Given the description of an element on the screen output the (x, y) to click on. 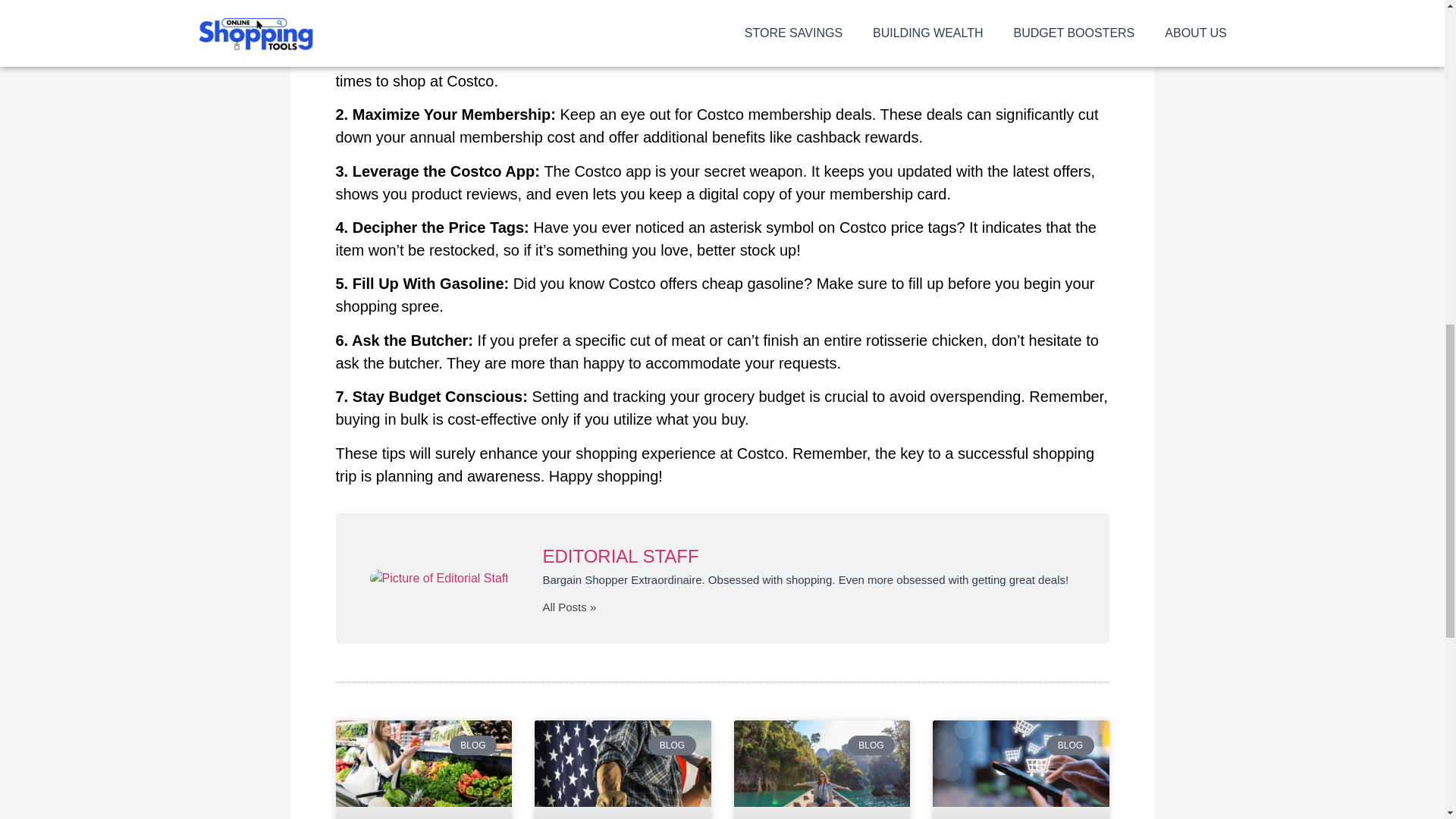
Labor Day Sales 2024: Your Quick Guide to Scoring Big (622, 763)
EDITORIAL STAFF (807, 557)
Why Now is the Best Time to Plan Your Dream Vacation (822, 763)
Why Digital Coupons are Your Secret Weapon for Big Savings (1021, 763)
